Given the description of an element on the screen output the (x, y) to click on. 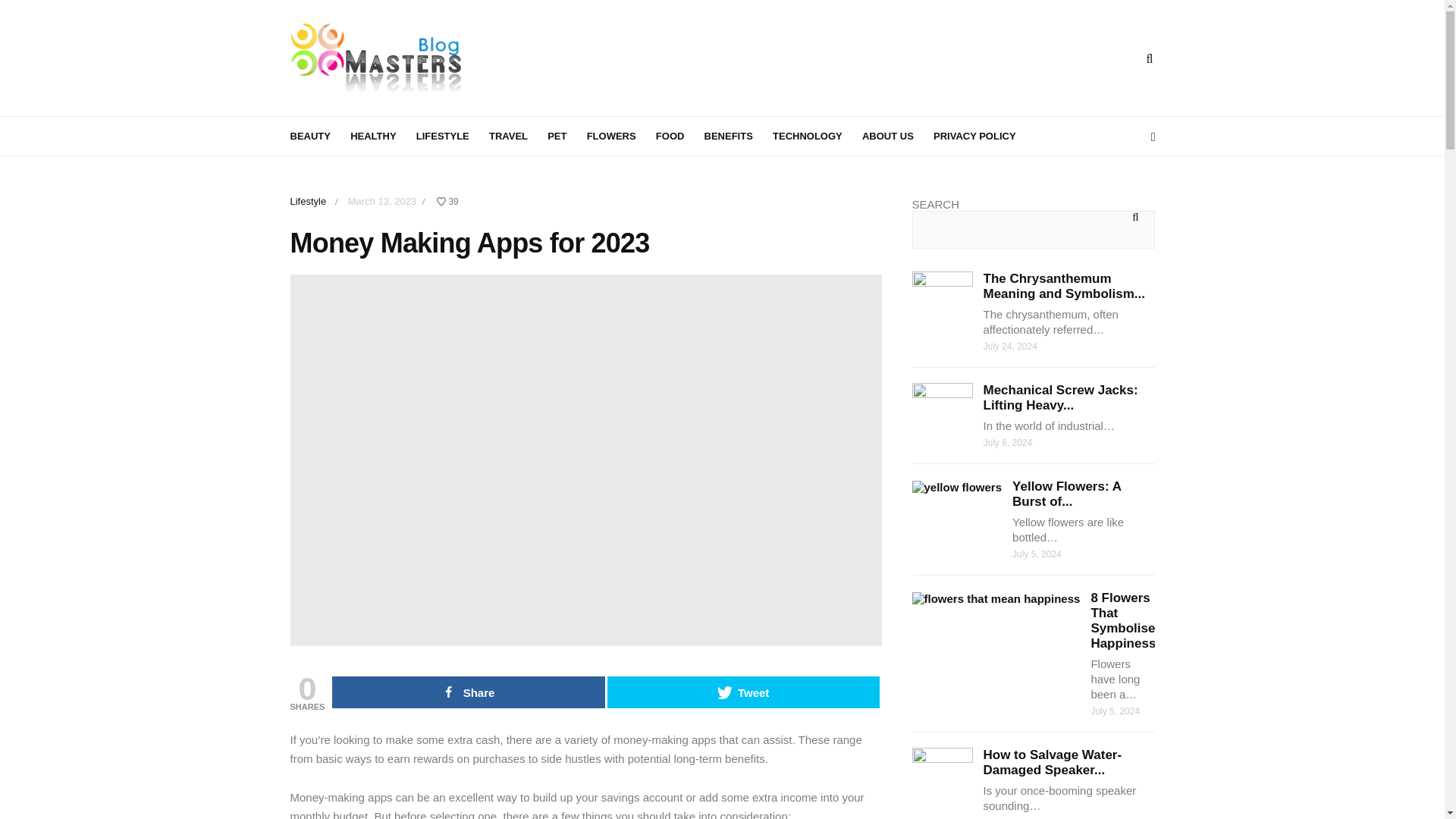
TRAVEL (516, 134)
HEALTHY (381, 134)
LIFESTYLE (451, 134)
View all posts in Lifestyle (307, 201)
BEAUTY (317, 134)
Like (447, 202)
